Given the description of an element on the screen output the (x, y) to click on. 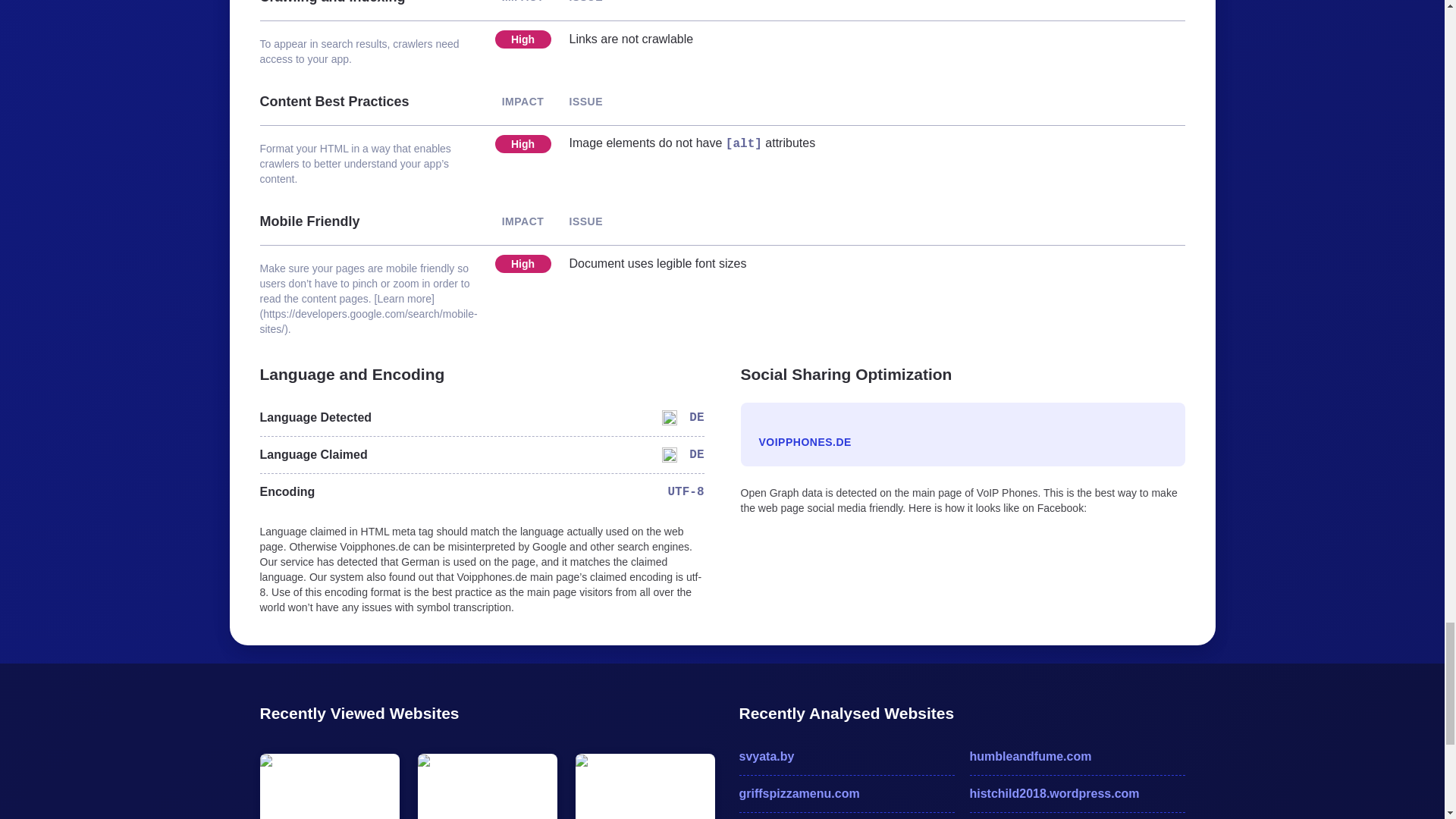
humbleandfume.com (1077, 756)
griffspizzamenu.com (845, 793)
svyata.by (845, 756)
histchild2018.wordpress.com (1077, 793)
